Given the description of an element on the screen output the (x, y) to click on. 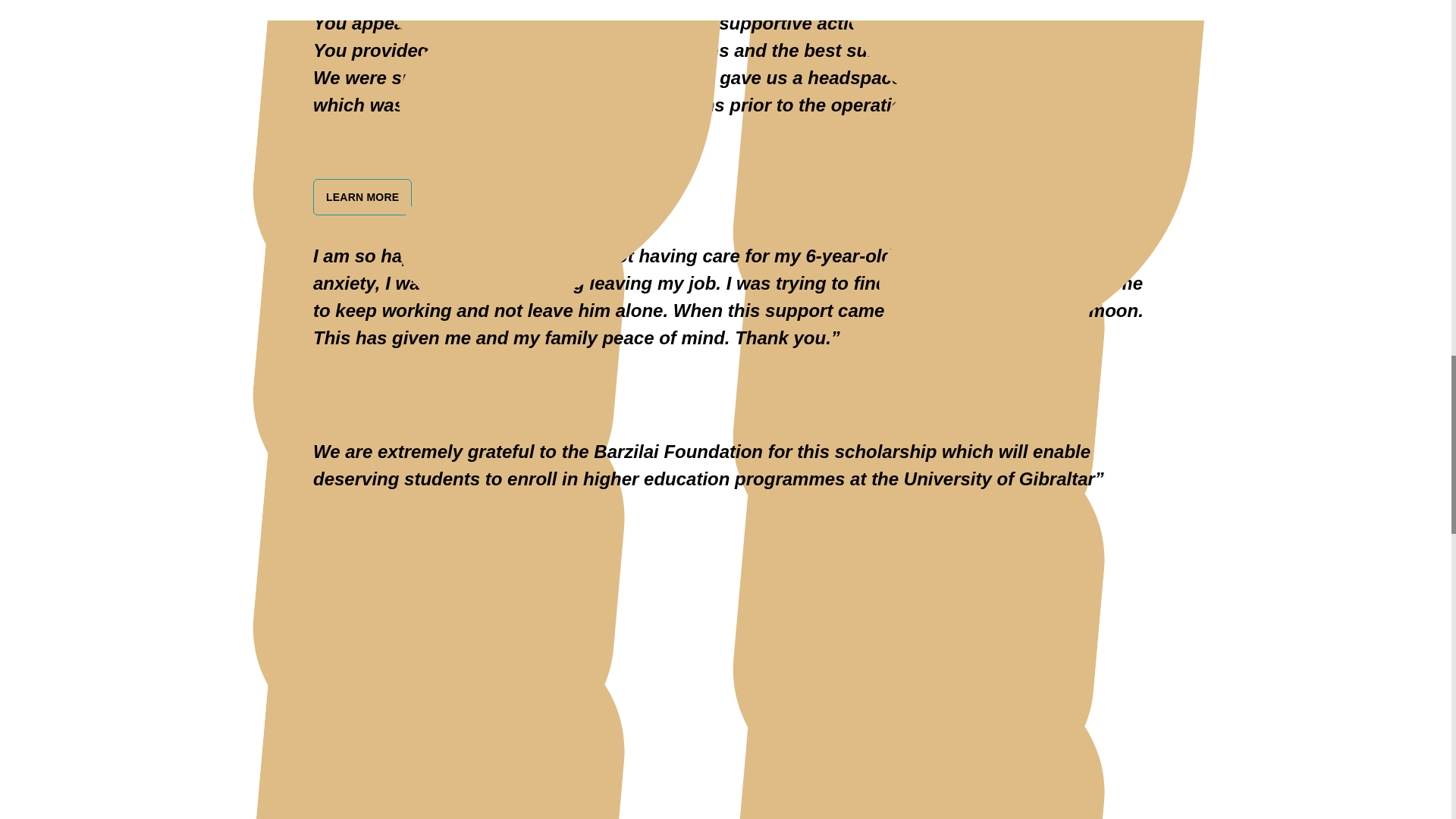
LEARN MORE (362, 195)
